Given the description of an element on the screen output the (x, y) to click on. 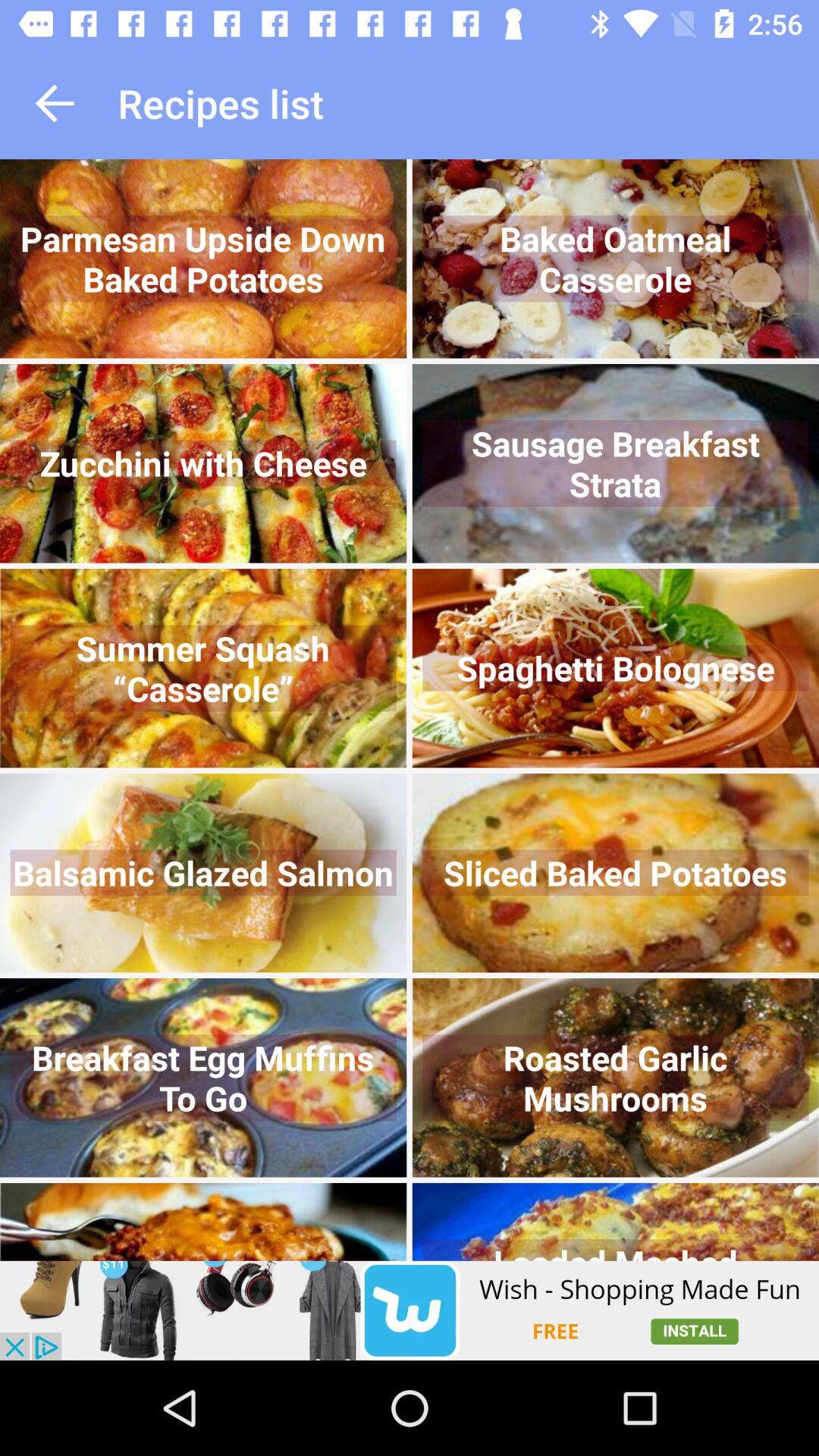
go back (54, 103)
